Given the description of an element on the screen output the (x, y) to click on. 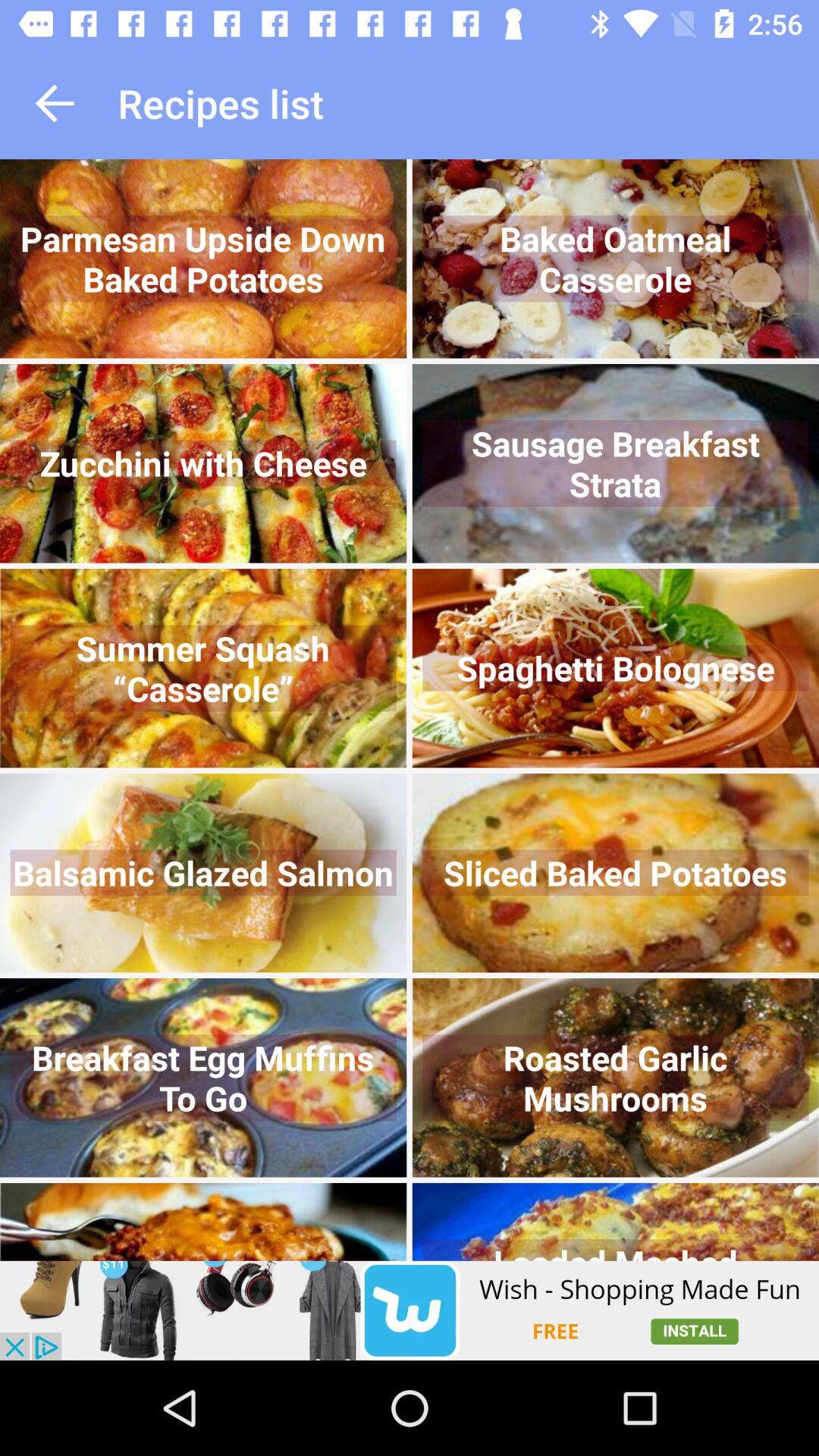
go back (54, 103)
